Given the description of an element on the screen output the (x, y) to click on. 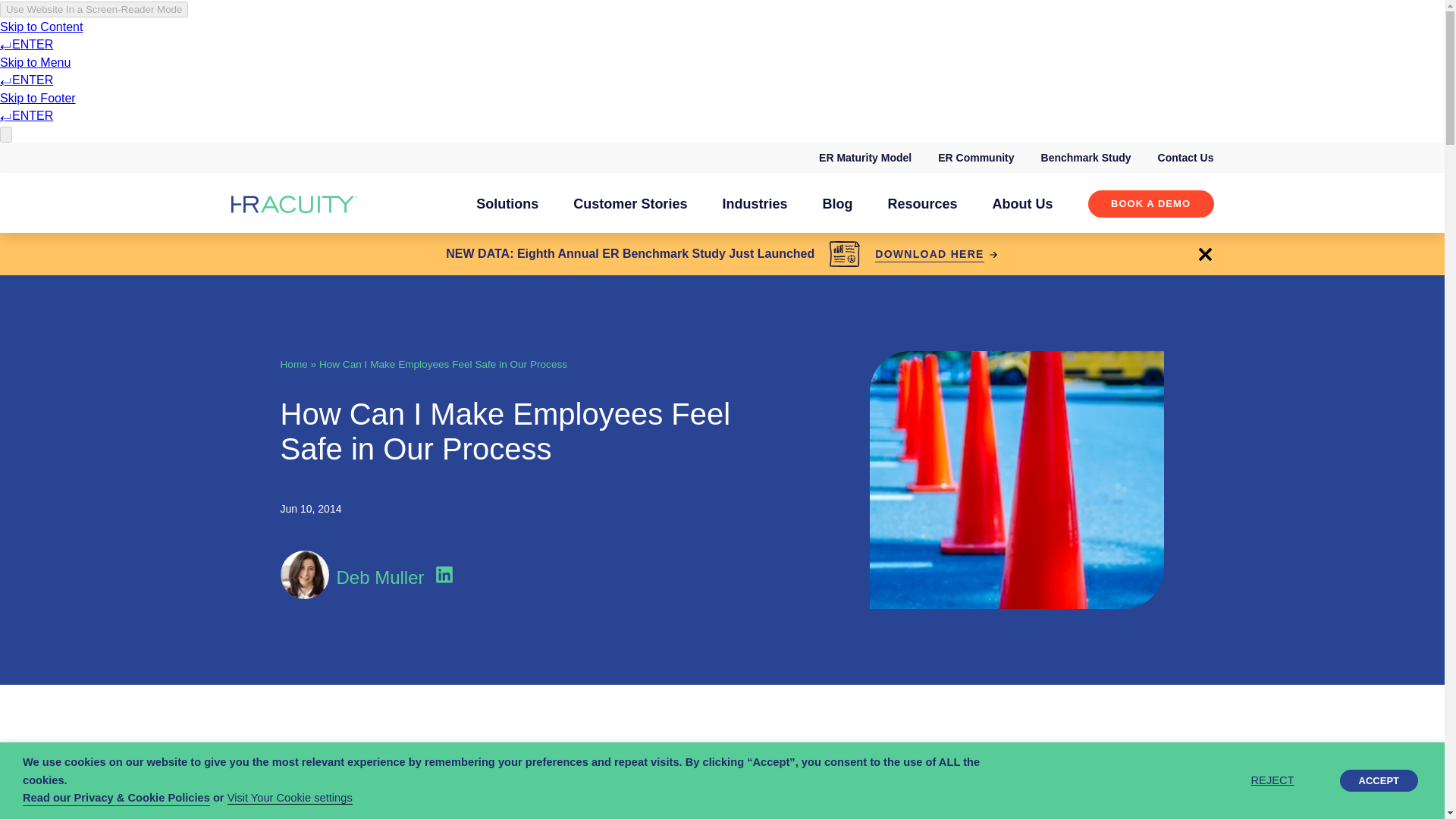
Contact Us (1185, 157)
Solutions (507, 203)
Industries (754, 203)
ER Maturity Model (864, 157)
Benchmark Study (1086, 157)
Customer Stories (630, 203)
ER Community (975, 157)
Blog (836, 203)
